Given the description of an element on the screen output the (x, y) to click on. 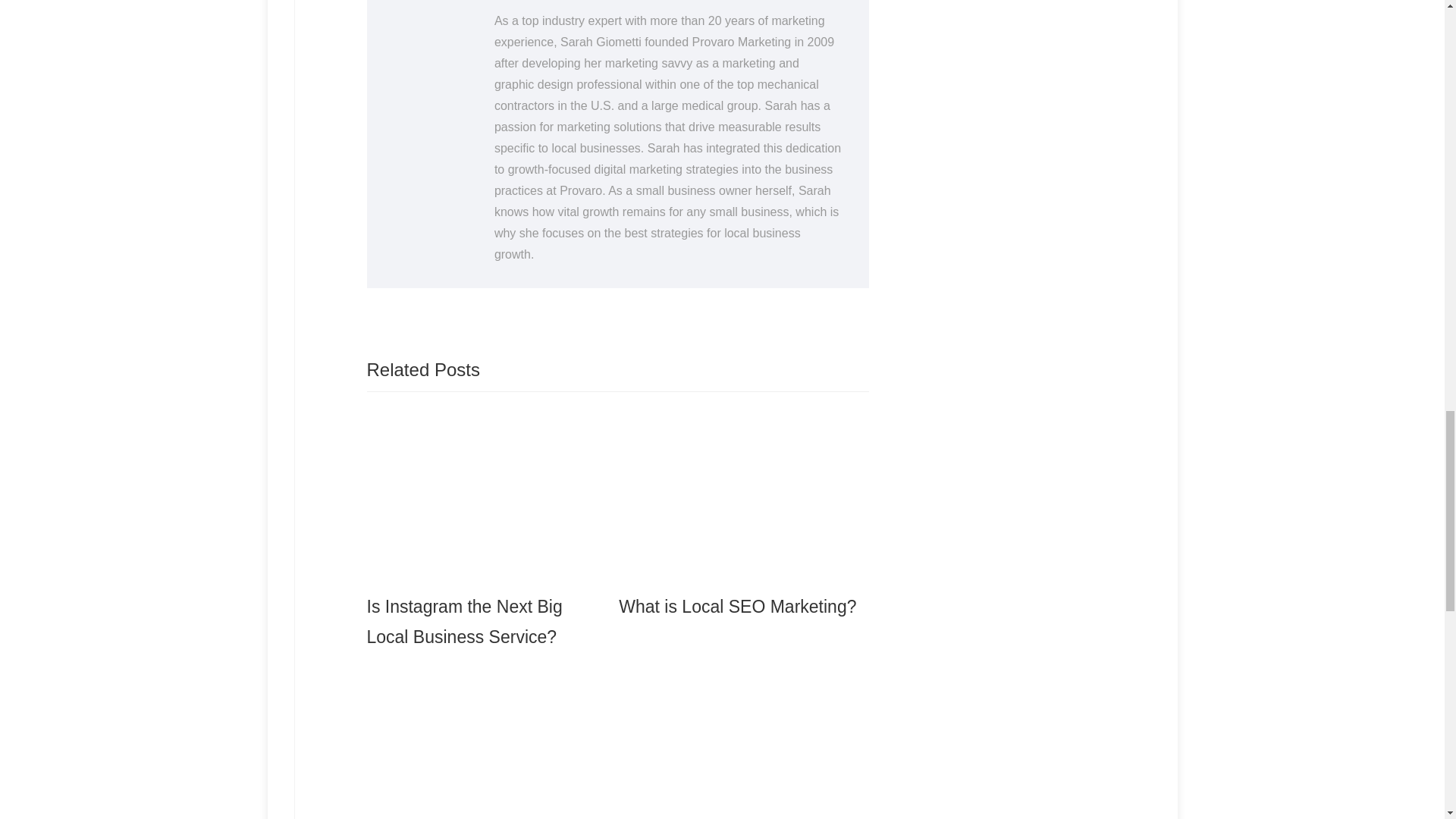
How to Rank Your Youtube Videos on the First Page of Google (739, 741)
Is Instagram the Next Big Local Business Service? (487, 534)
Local Marketing Ideas for Small Business (487, 741)
What is Local SEO Marketing? (739, 518)
